Given the description of an element on the screen output the (x, y) to click on. 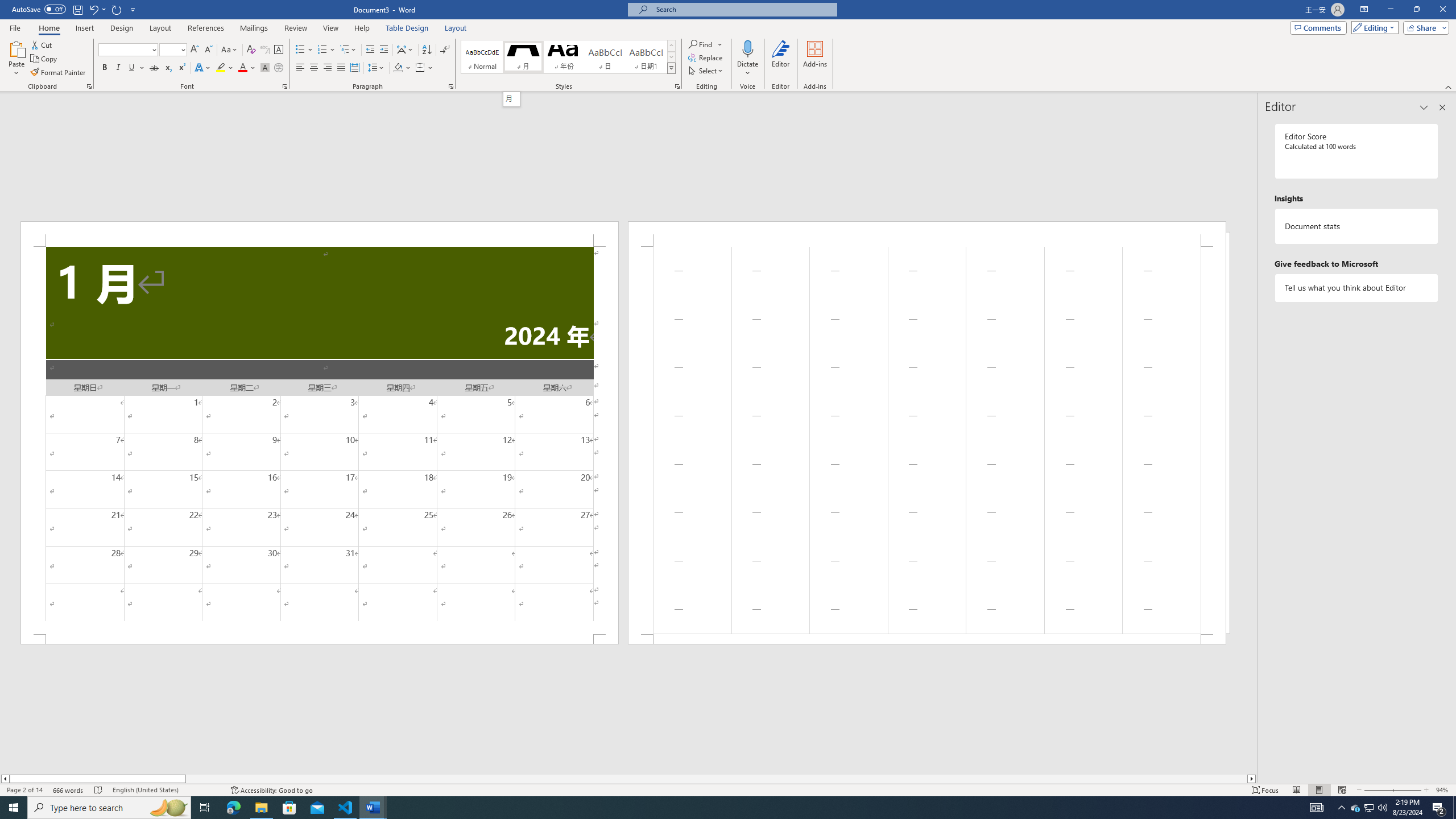
Shading RGB(0, 0, 0) (397, 67)
Align Left (300, 67)
Styles (670, 67)
Page right (716, 778)
Copy (45, 58)
Undo Apply Quick Style (92, 9)
Row Down (670, 56)
Decrease Indent (370, 49)
Distributed (354, 67)
